Given the description of an element on the screen output the (x, y) to click on. 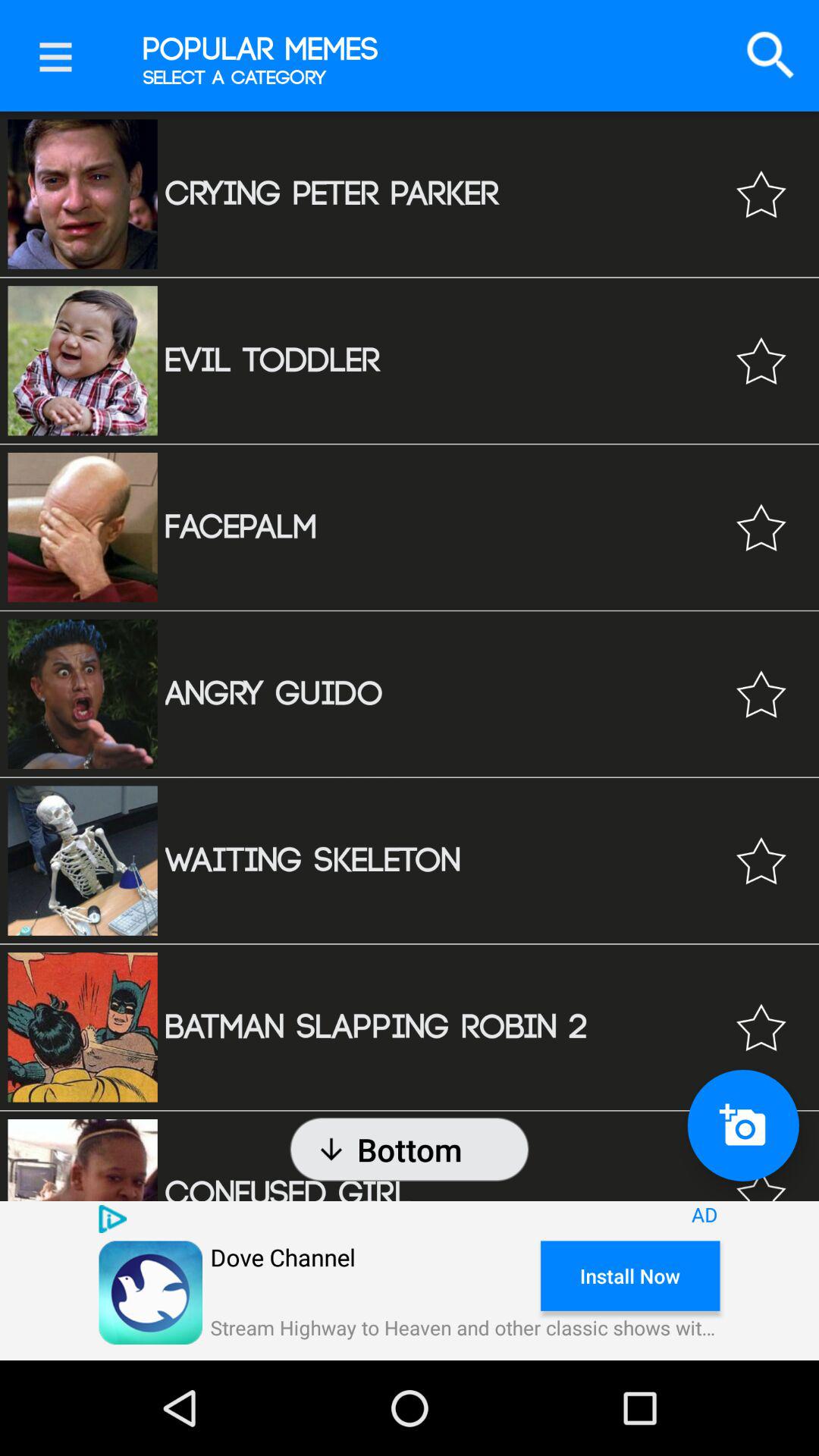
favorite (761, 193)
